Given the description of an element on the screen output the (x, y) to click on. 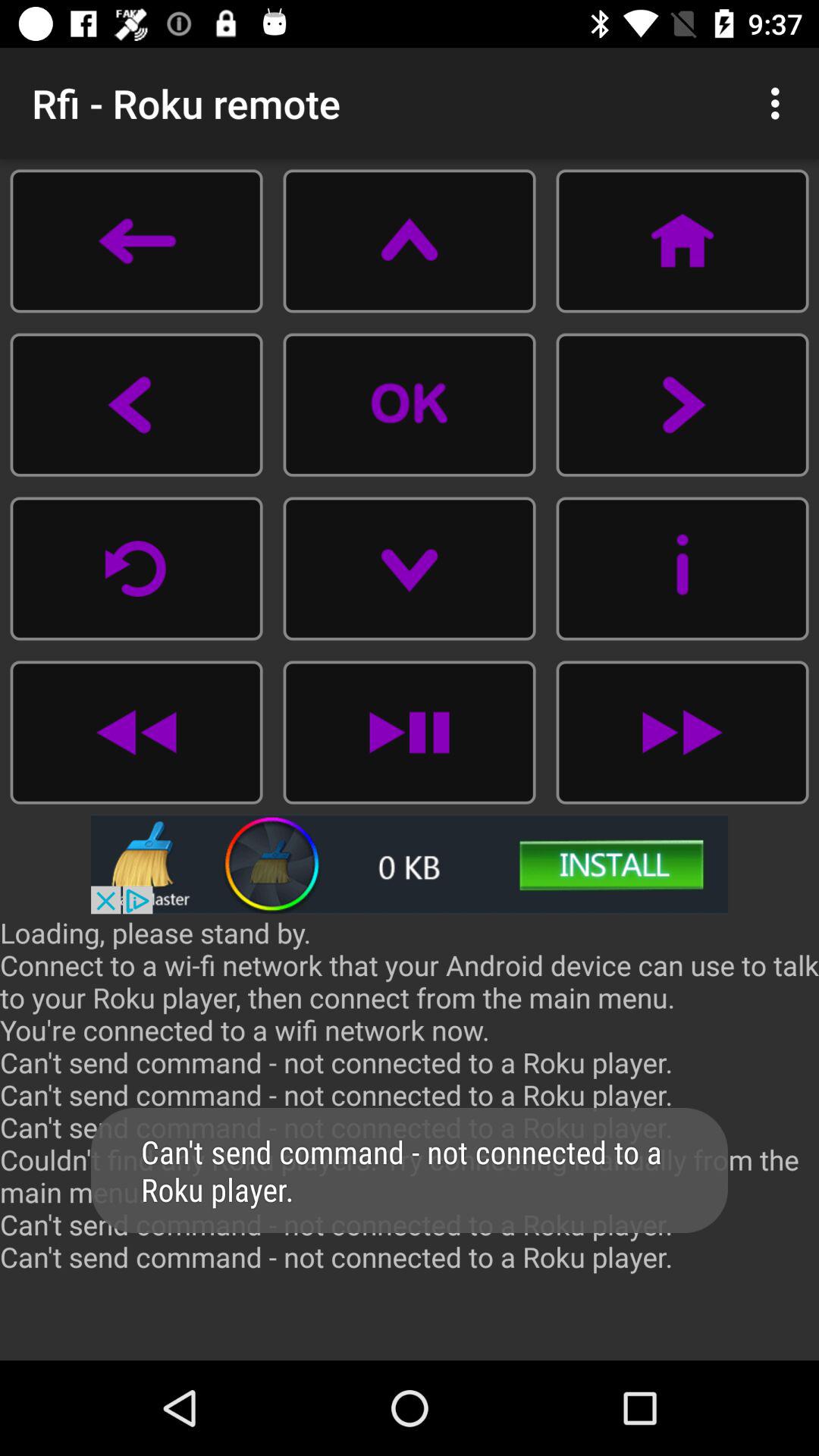
go to up option (409, 240)
